Given the description of an element on the screen output the (x, y) to click on. 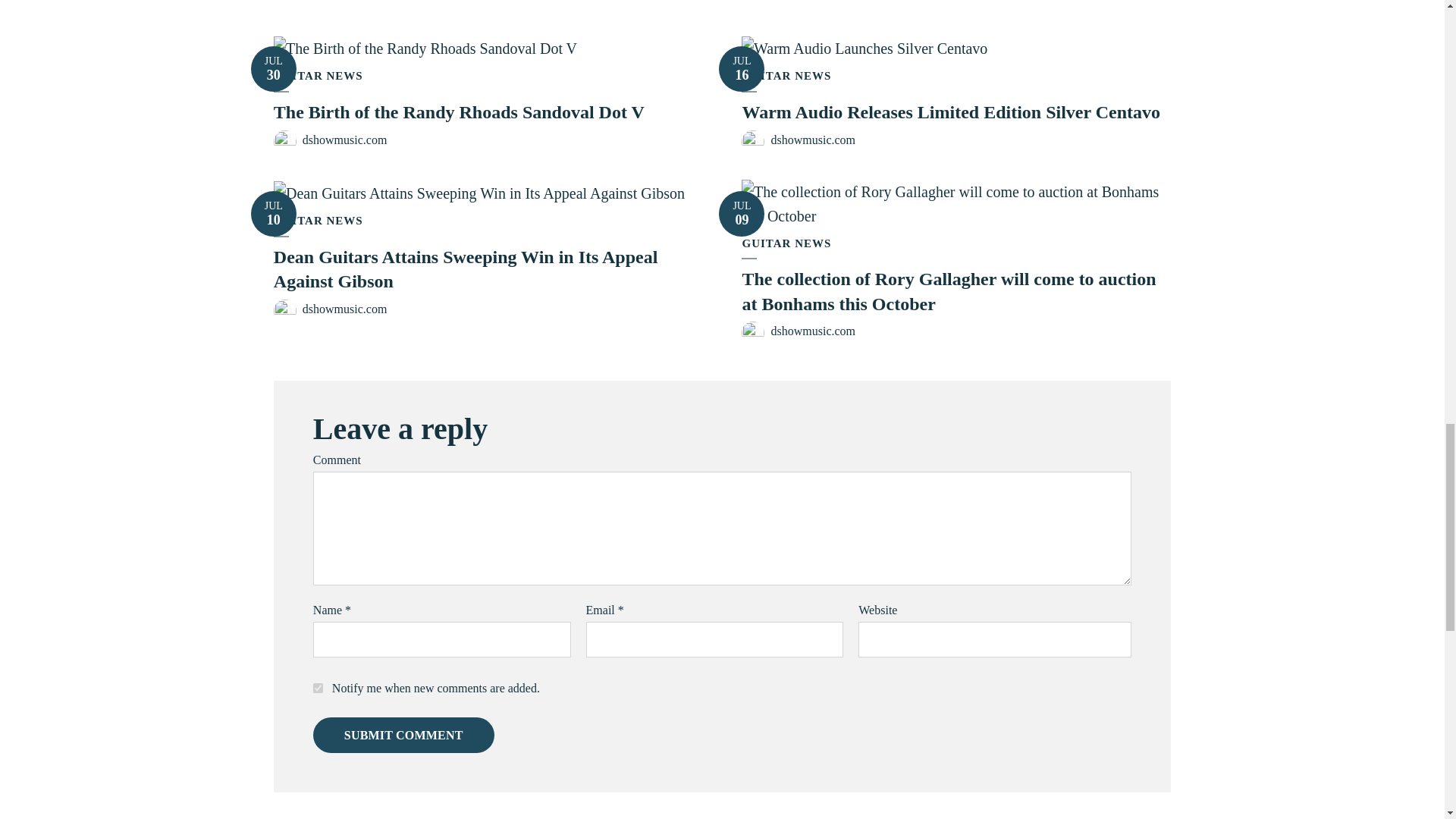
Warm Audio Releases Limited Edition Silver Centavo (950, 112)
The Birth of the Randy Rhoads Sandoval Dot V (459, 112)
Submit Comment (404, 735)
1 (318, 687)
dshowmusic.com (741, 68)
GUITAR NEWS (344, 139)
dshowmusic.com (317, 75)
GUITAR NEWS (273, 68)
